Given the description of an element on the screen output the (x, y) to click on. 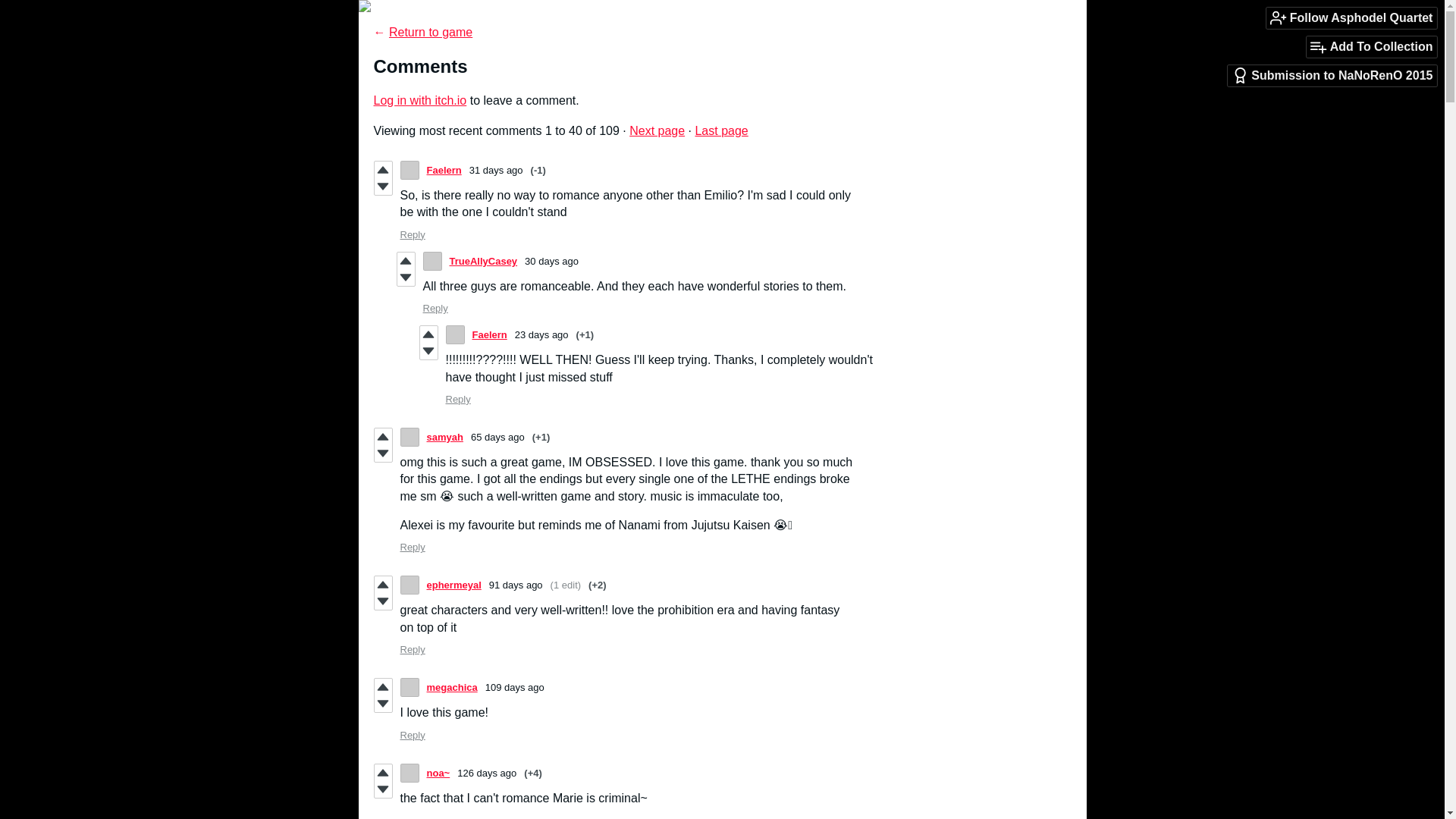
Vote up (382, 584)
Vote up (382, 772)
Vote up (382, 686)
31 days ago (495, 170)
Vote down (382, 600)
samyah (444, 437)
Reply (457, 398)
23 days ago (542, 334)
Faelern (488, 334)
30 days ago (551, 260)
2024-05-26 15:07:35 (497, 437)
Reply (412, 649)
2024-04-12 02:57:54 (514, 686)
Vote down (382, 789)
Vote up (382, 436)
